Given the description of an element on the screen output the (x, y) to click on. 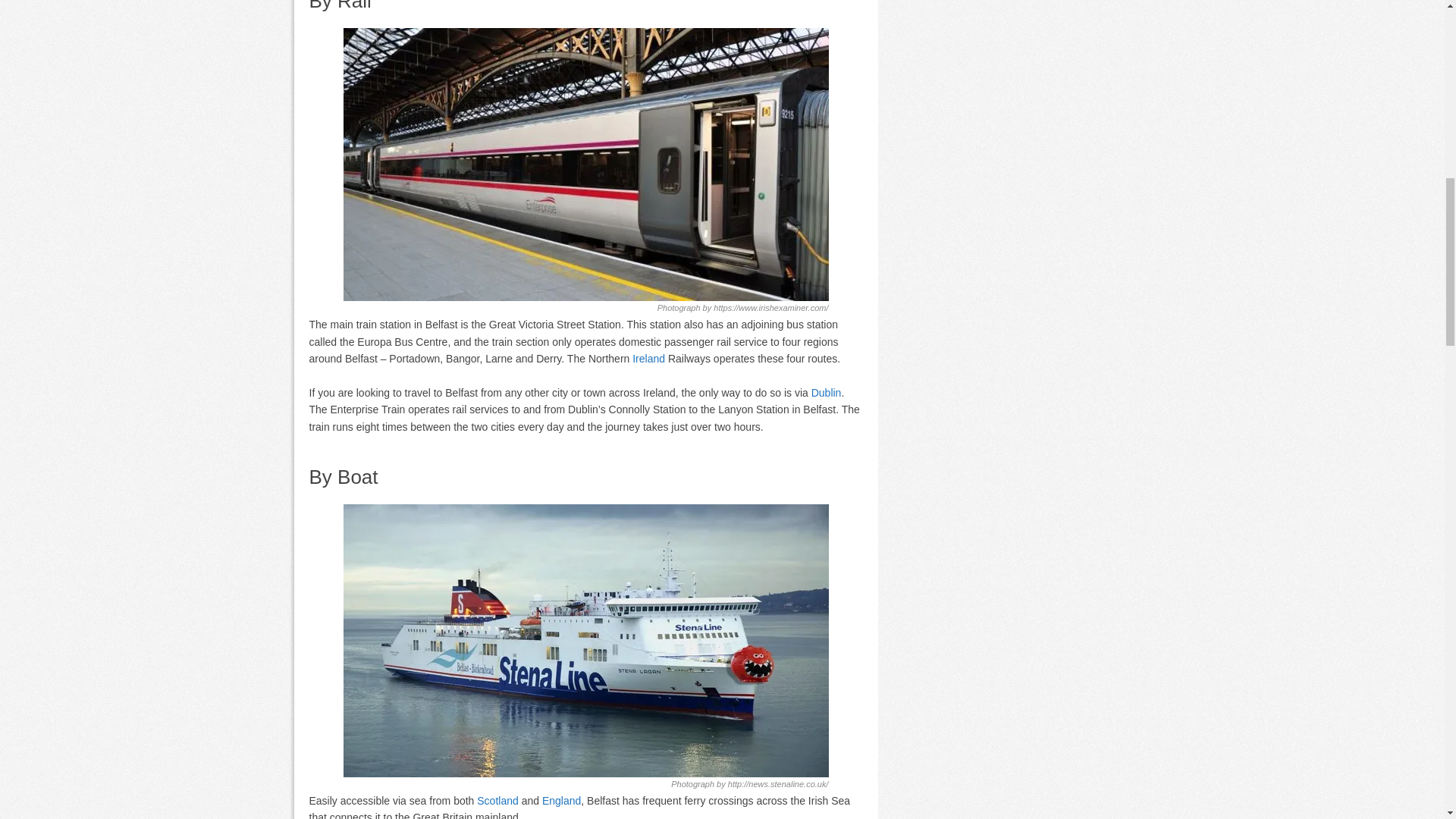
By Boat:  How To Reach Belfast (585, 640)
Dublin (825, 392)
Ireland (648, 358)
England (560, 800)
By Rail:  How To Reach Belfast (585, 164)
Scotland (497, 800)
